Given the description of an element on the screen output the (x, y) to click on. 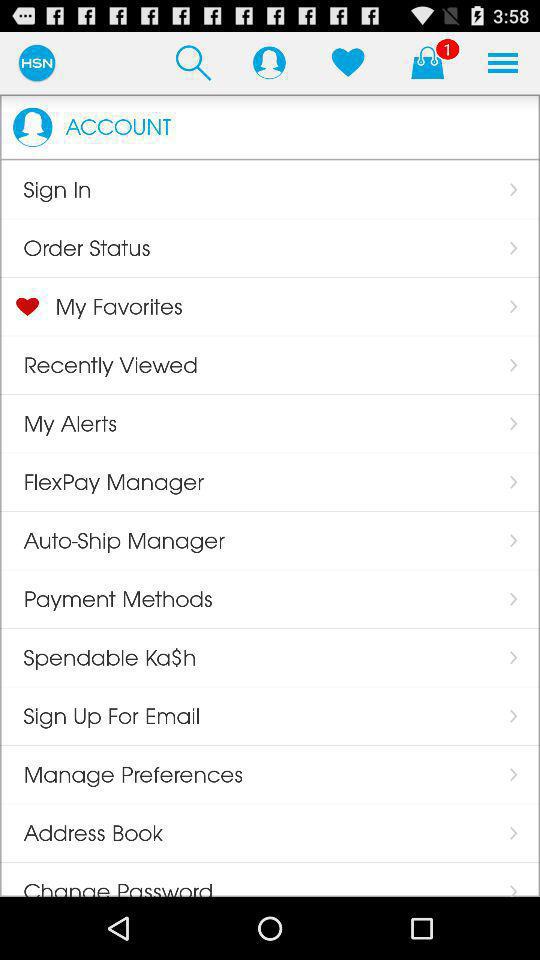
shopping cart (427, 62)
